Given the description of an element on the screen output the (x, y) to click on. 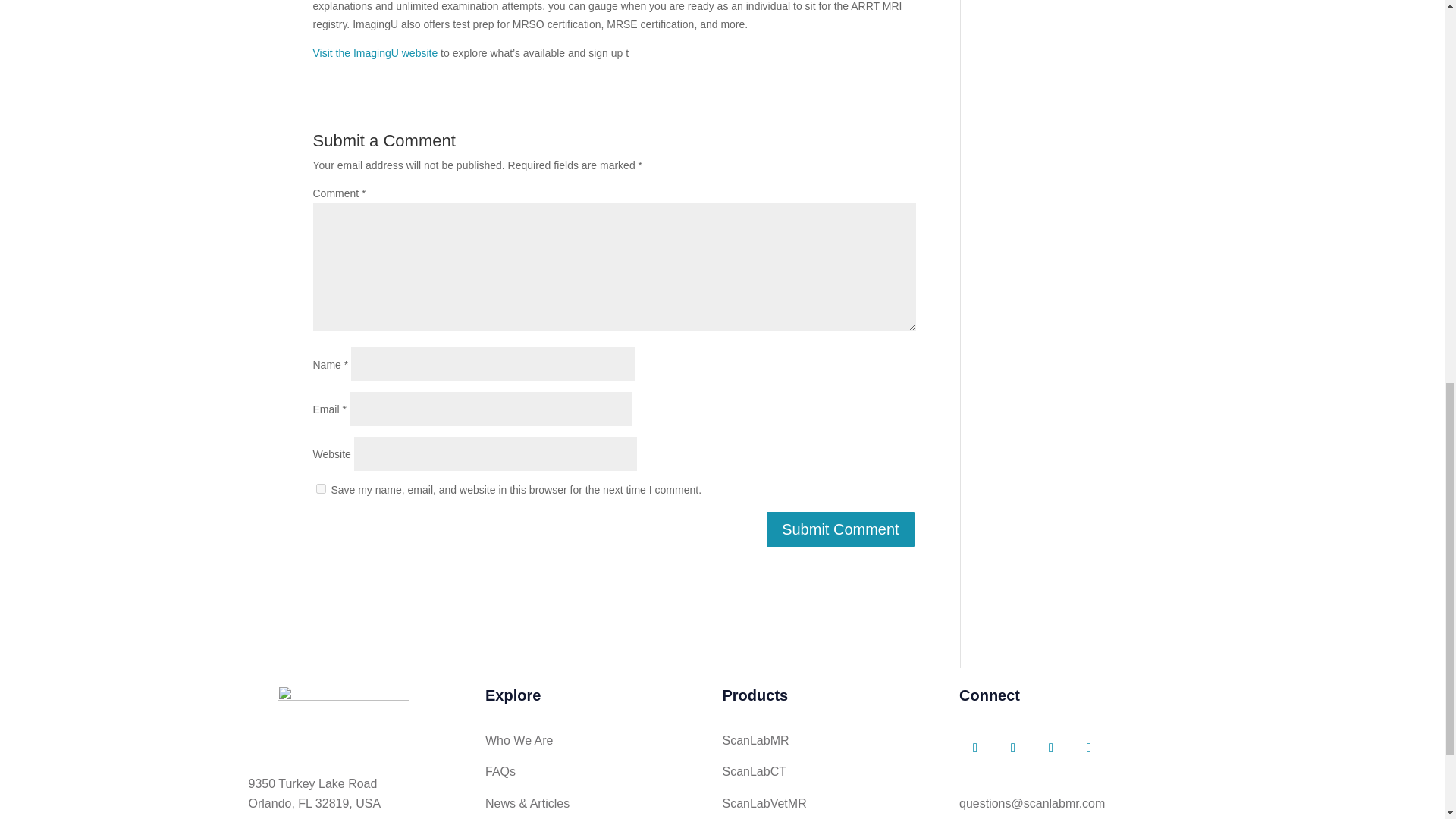
Follow on Facebook (975, 747)
SL Horizontal (343, 713)
Who We Are (518, 739)
yes (319, 488)
FAQs (499, 771)
Visit the ImagingU website (375, 52)
Follow on LinkedIn (1013, 747)
Submit Comment (840, 528)
Follow on Instagram (1089, 747)
Submit Comment (840, 528)
